Given the description of an element on the screen output the (x, y) to click on. 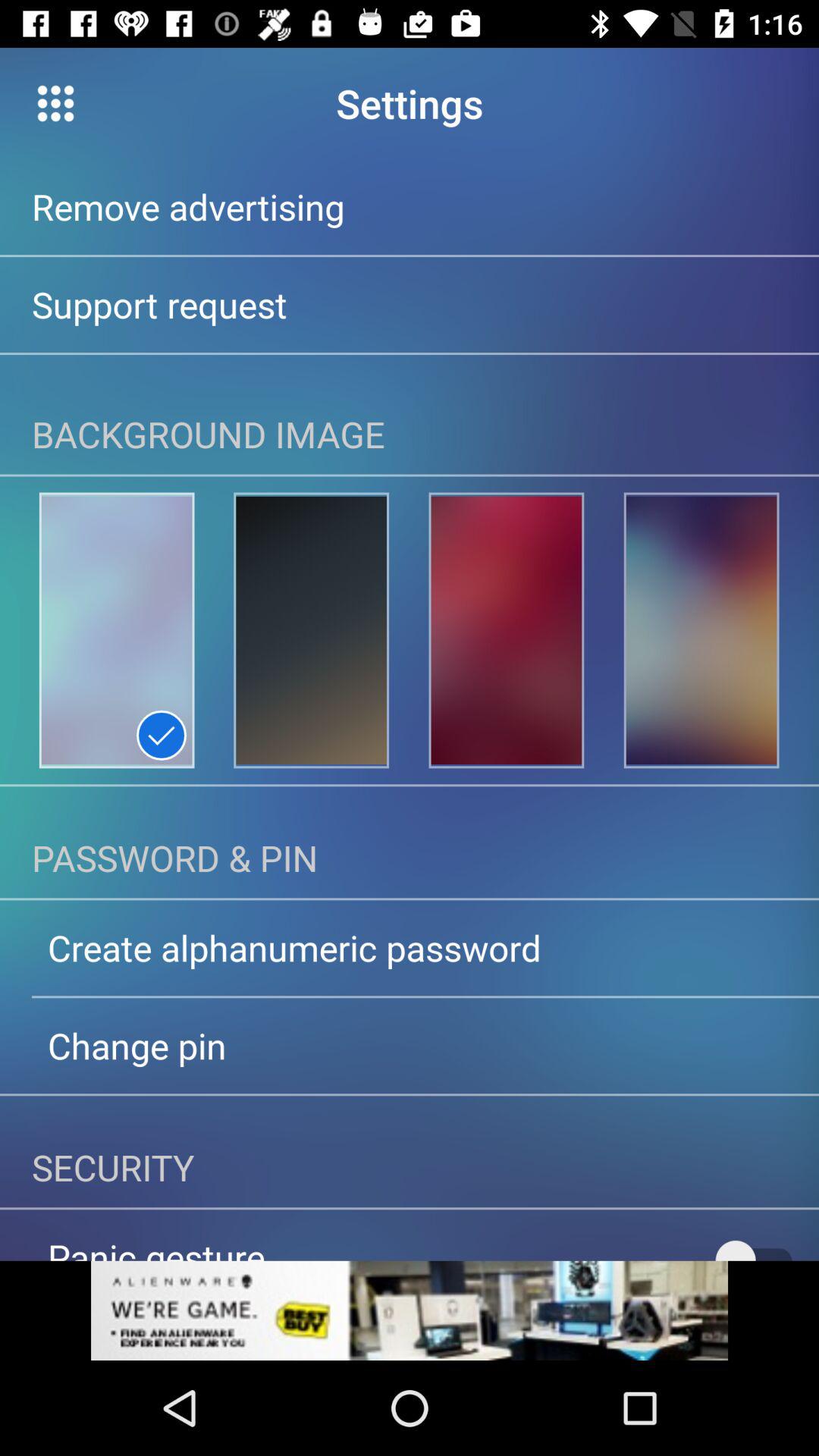
select background image (116, 630)
